Given the description of an element on the screen output the (x, y) to click on. 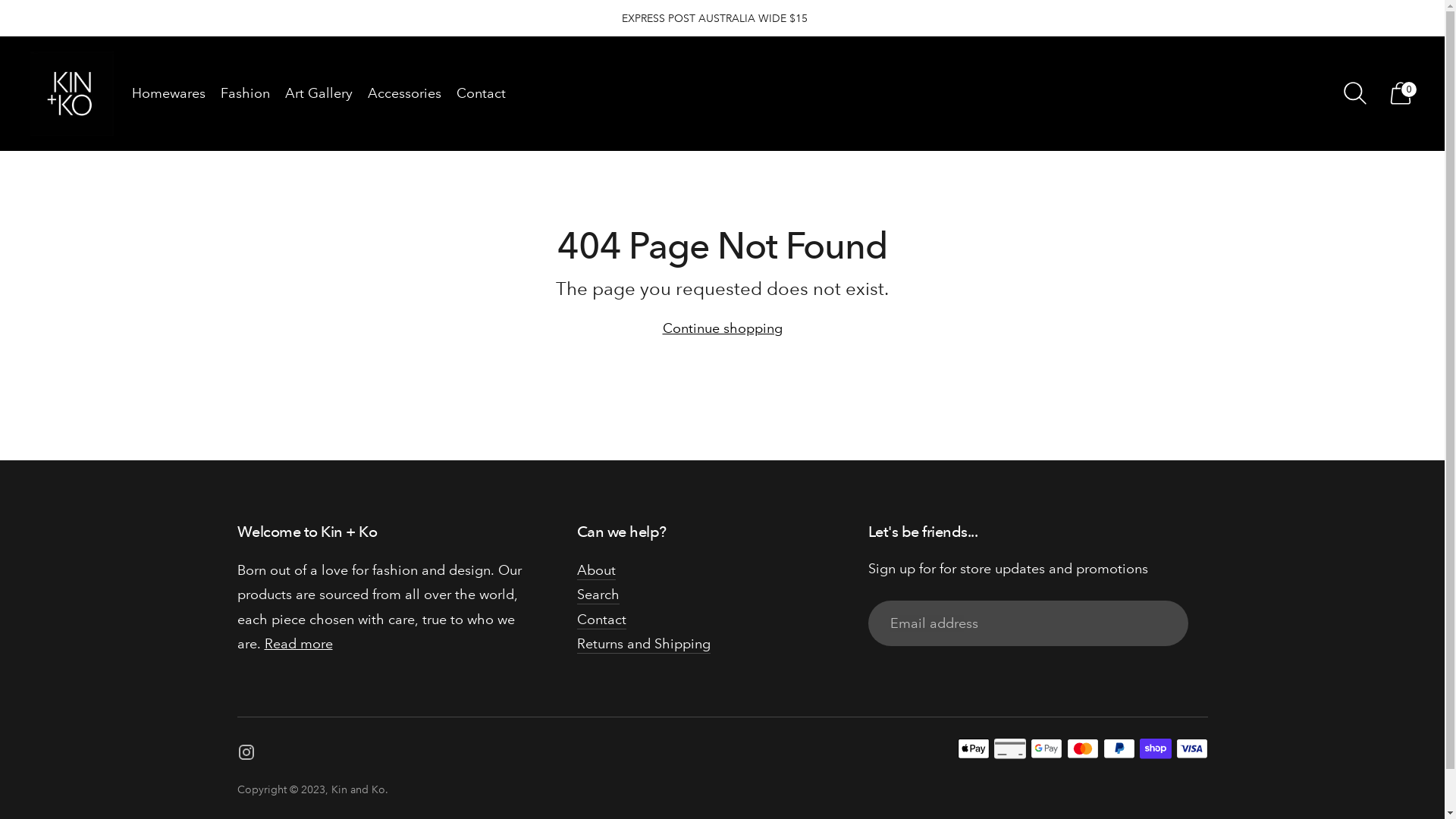
Art Gallery Element type: text (318, 92)
Continue shopping Element type: text (722, 327)
0 Element type: text (1400, 93)
About Element type: text (595, 569)
Contact Element type: text (480, 92)
Fashion Element type: text (244, 92)
Contact Element type: text (600, 619)
Returns and Shipping Element type: text (642, 643)
Kin and Ko Element type: text (357, 789)
Read more Element type: text (297, 643)
Accessories Element type: text (404, 92)
Search Element type: text (597, 594)
Kin and Ko on Instagram Element type: hover (245, 755)
Homewares Element type: text (168, 92)
